Given the description of an element on the screen output the (x, y) to click on. 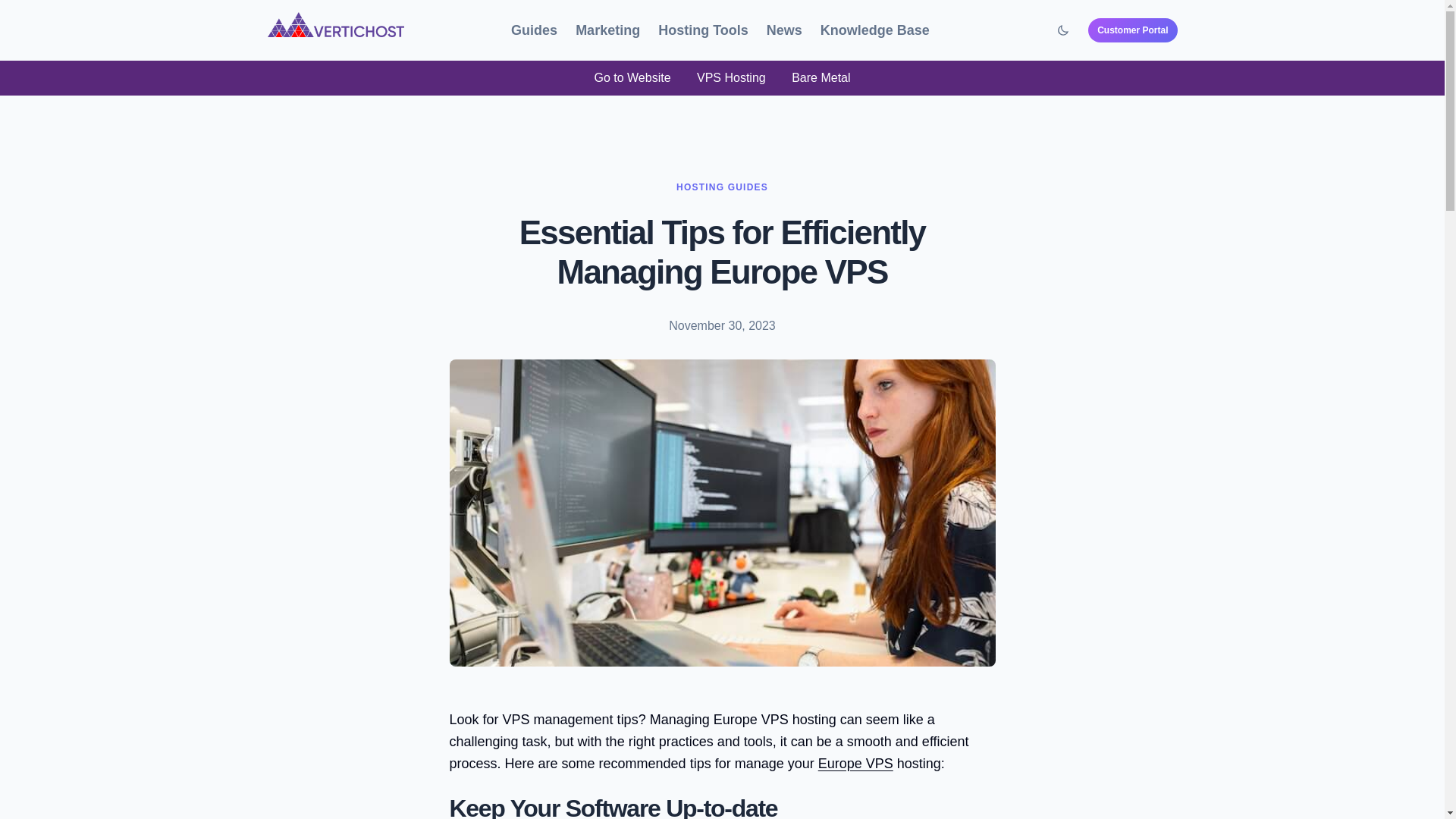
Guides (534, 30)
Knowledge Base  (877, 30)
News (784, 30)
Go to Website (631, 77)
Hosting Tools (703, 30)
Bare Metal (821, 77)
Marketing (607, 30)
HOSTING GUIDES (722, 187)
VPS Hosting (731, 77)
Europe VPS (855, 763)
